Given the description of an element on the screen output the (x, y) to click on. 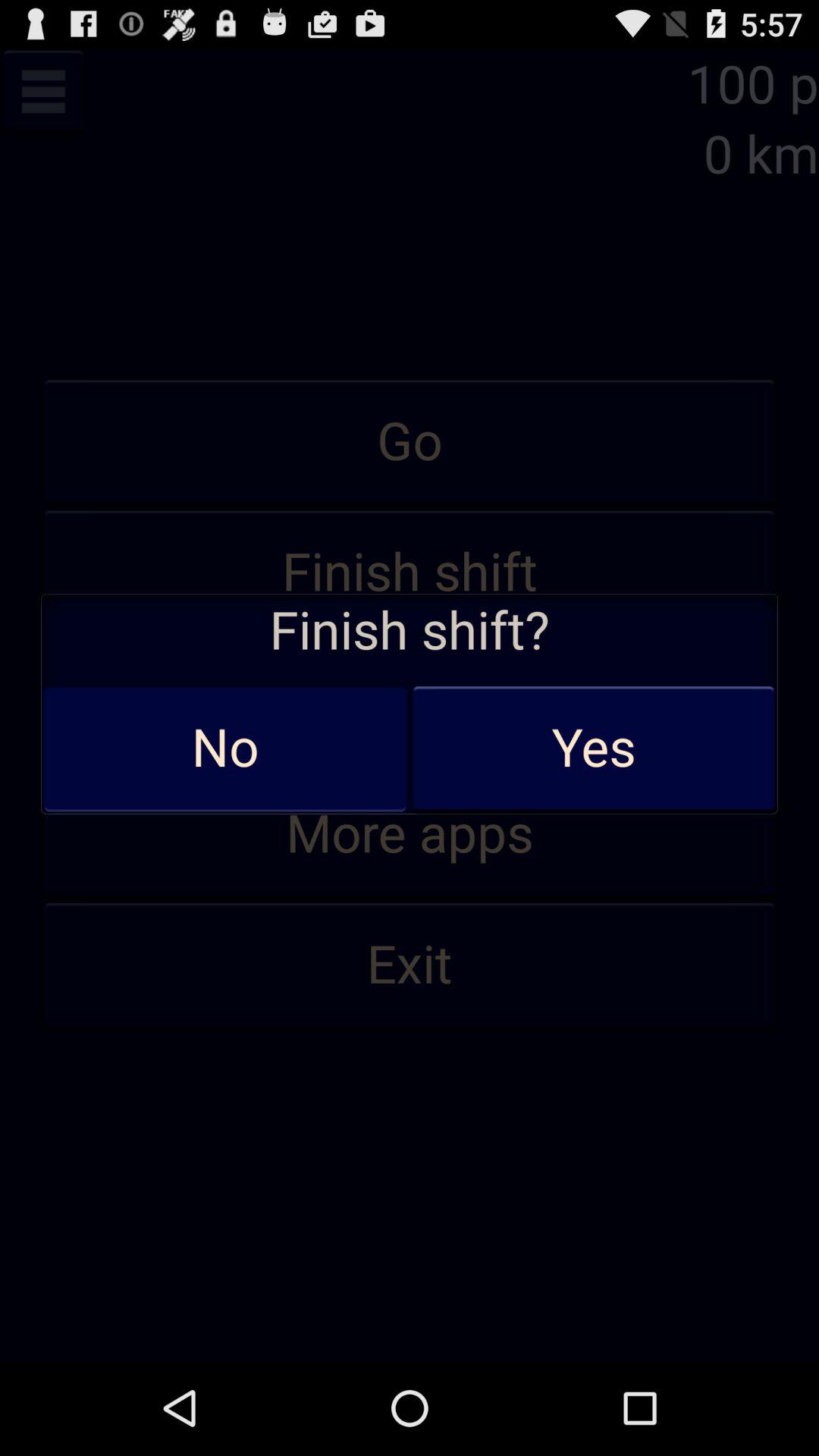
open menu (43, 90)
